Given the description of an element on the screen output the (x, y) to click on. 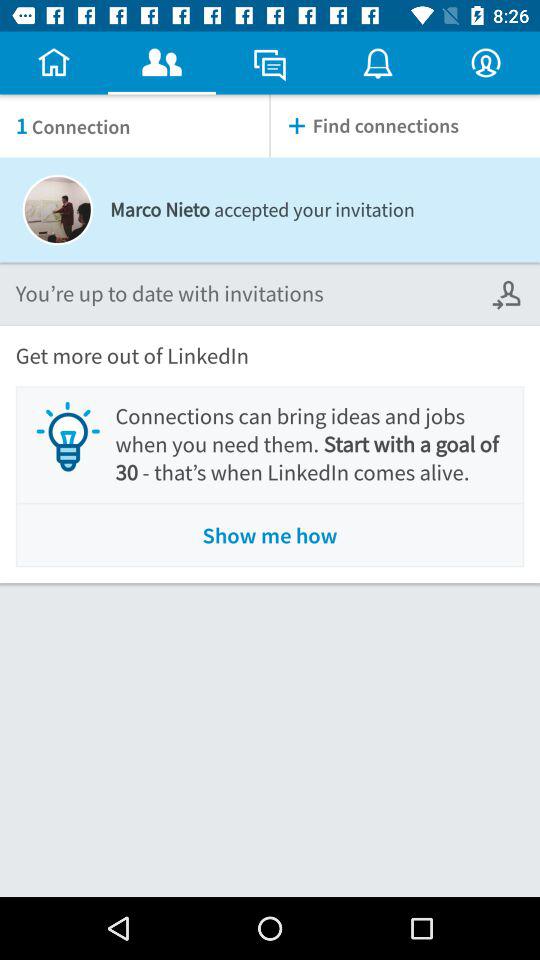
open icon next to you re up (508, 293)
